Given the description of an element on the screen output the (x, y) to click on. 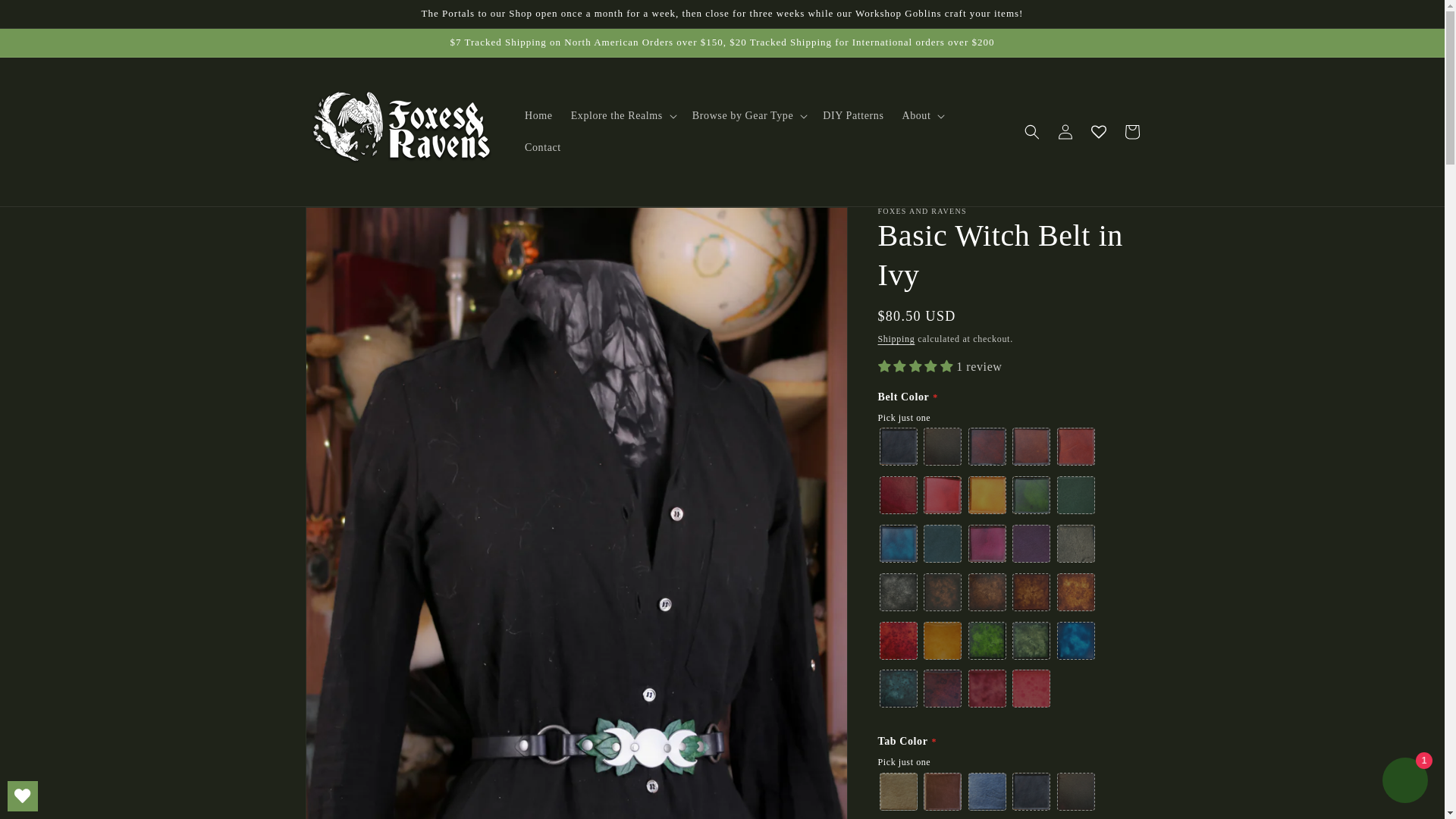
Home (538, 115)
Shopify online store chat (1404, 781)
Skip to content (45, 17)
